Given the description of an element on the screen output the (x, y) to click on. 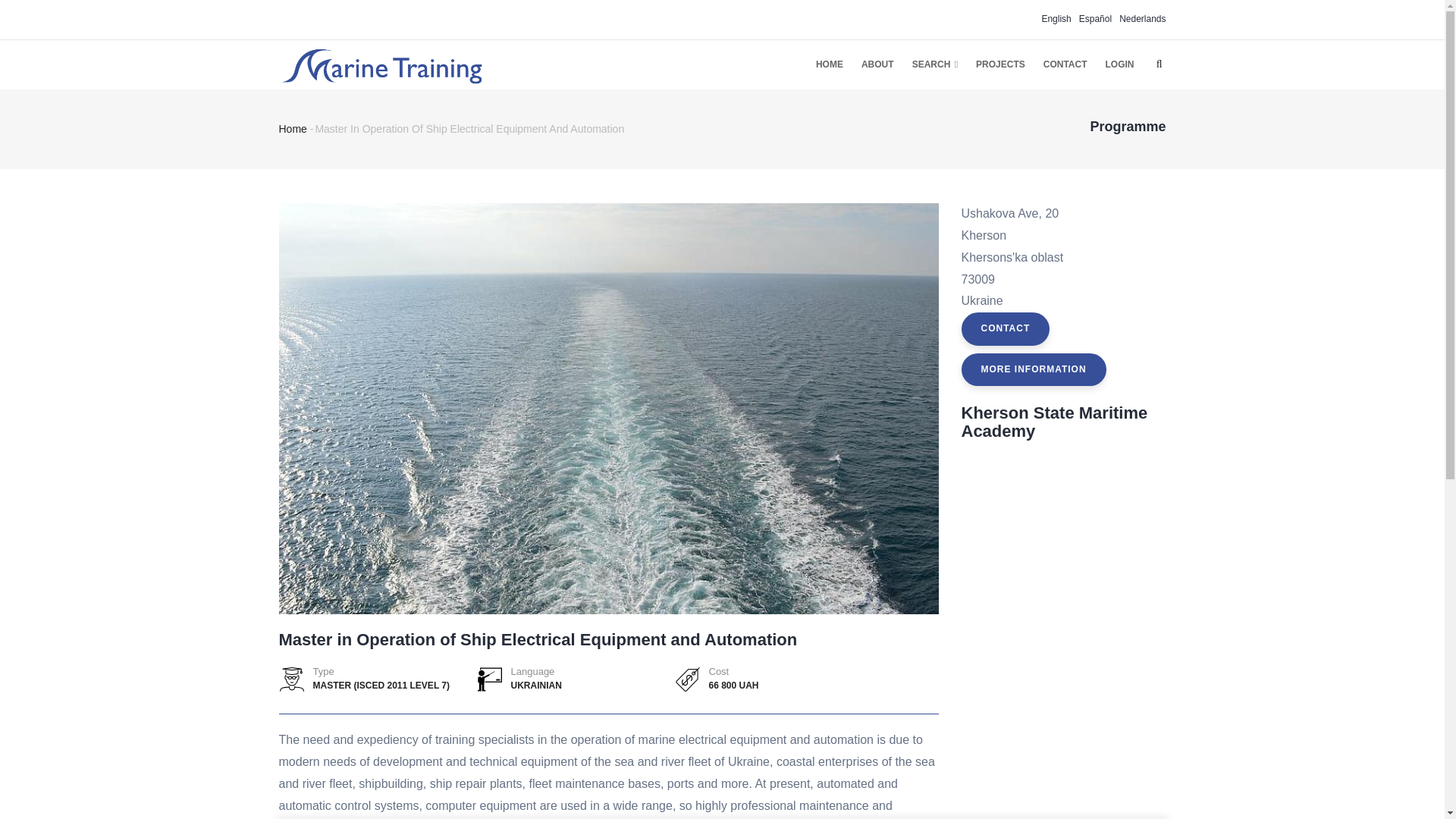
Kherson State Maritime Academy (1054, 421)
MORE INFORMATION (1033, 369)
LOGIN (1119, 65)
SEARCH (934, 65)
Nederlands (1142, 18)
Home (293, 128)
English (1055, 18)
CONTACT (1004, 328)
ABOUT (876, 65)
HOME (828, 65)
CONTACT (1064, 65)
PROJECTS (999, 65)
Home (381, 62)
